Given the description of an element on the screen output the (x, y) to click on. 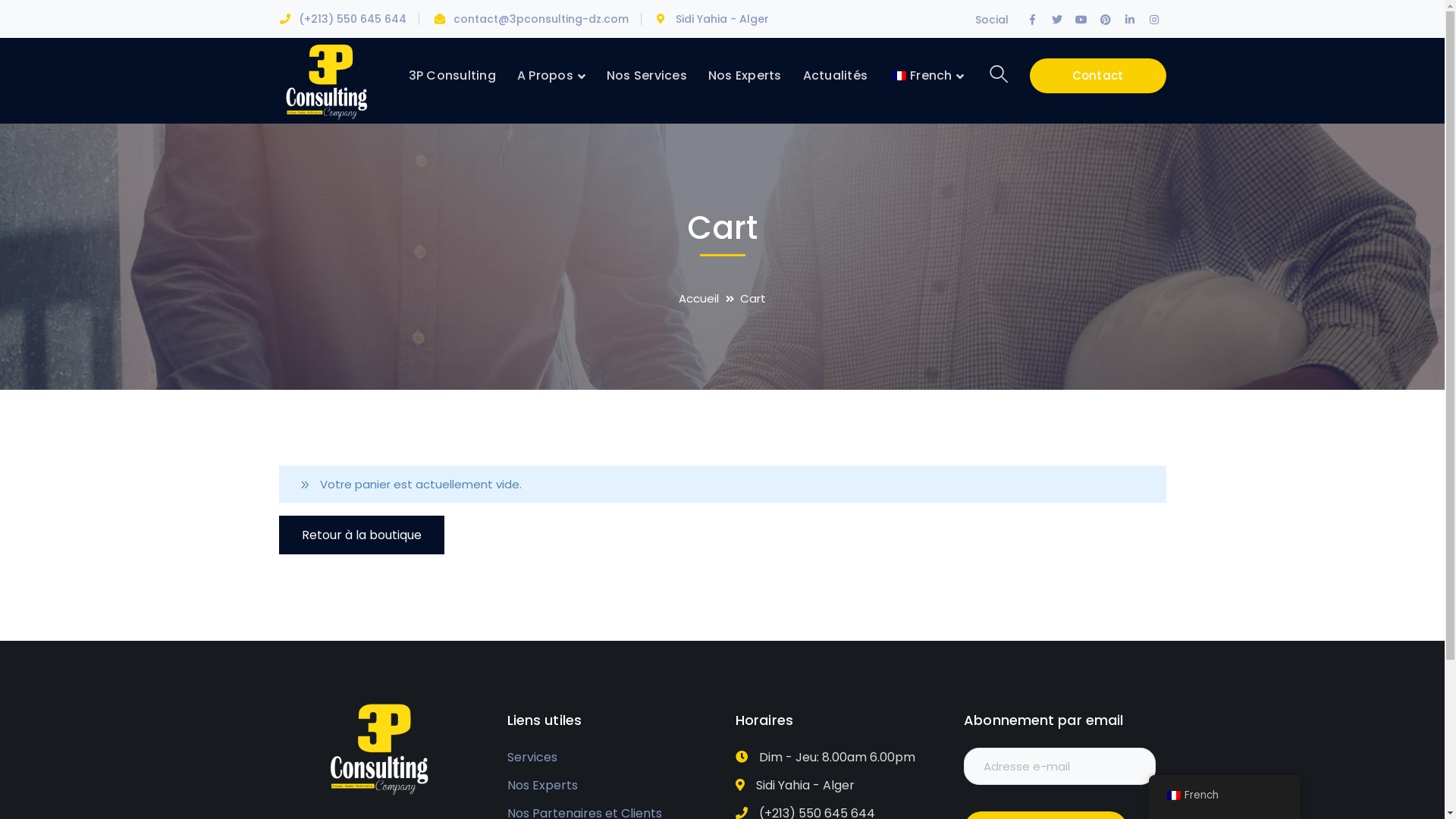
3P Consulting Element type: hover (330, 79)
Youtube Profil Element type: text (1081, 19)
Contact Element type: text (1097, 75)
LinkedIn Profil Element type: text (1129, 19)
Accueil Element type: text (709, 297)
Nos Services Element type: text (646, 75)
Instagram Profil Element type: text (1154, 19)
French Element type: text (1223, 795)
French Element type: hover (899, 75)
Nos Experts Element type: text (744, 75)
Nos Experts Element type: text (542, 785)
Services Element type: text (532, 757)
Facebook Profil Element type: text (1032, 19)
A Propos Element type: text (551, 75)
French Element type: text (926, 75)
French Element type: hover (1172, 795)
3P Consulting Element type: text (451, 75)
Twitter Profil Element type: text (1056, 19)
Pinterest Profil Element type: text (1105, 19)
